Given the description of an element on the screen output the (x, y) to click on. 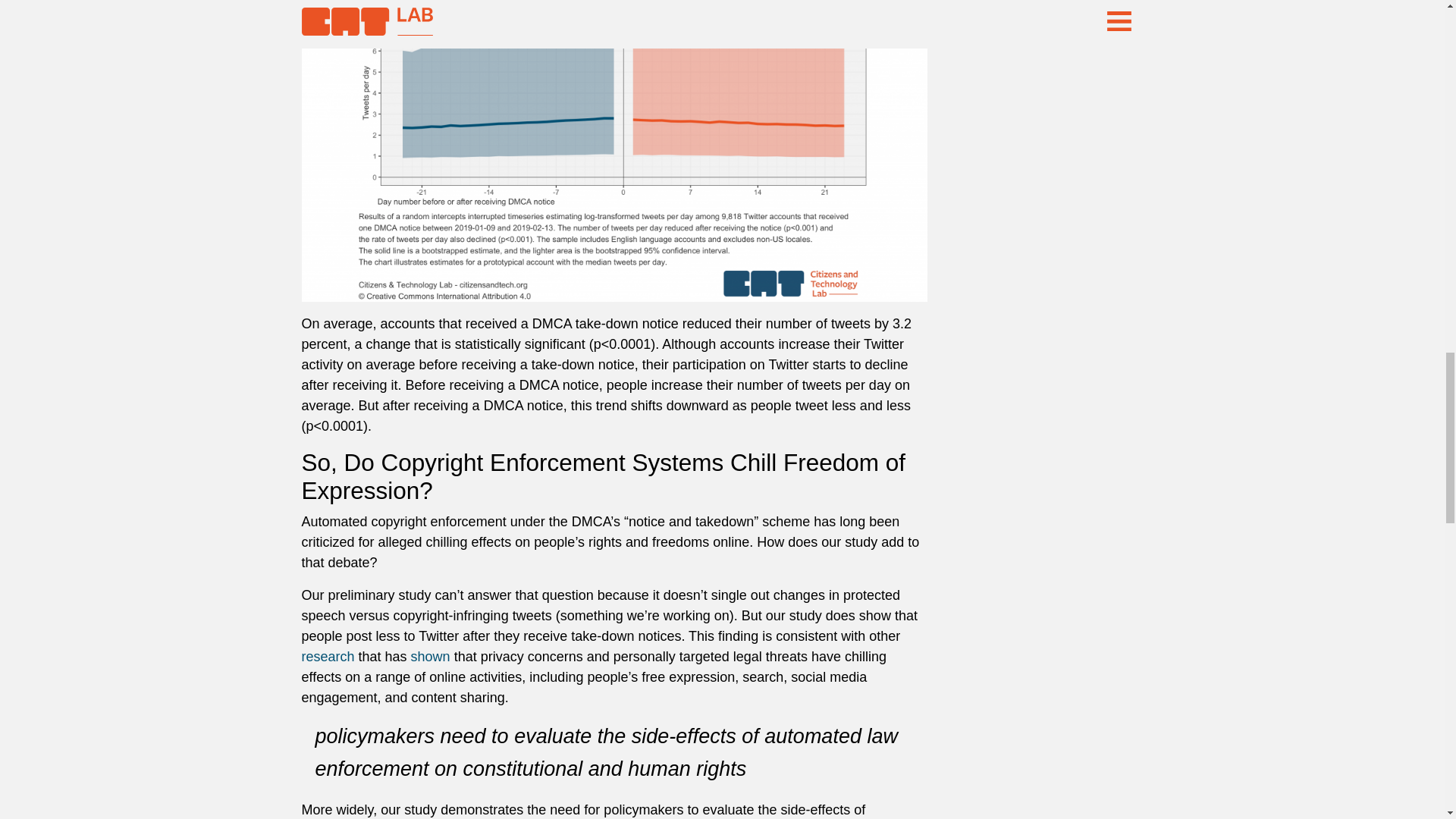
shown (429, 656)
research (328, 656)
